Given the description of an element on the screen output the (x, y) to click on. 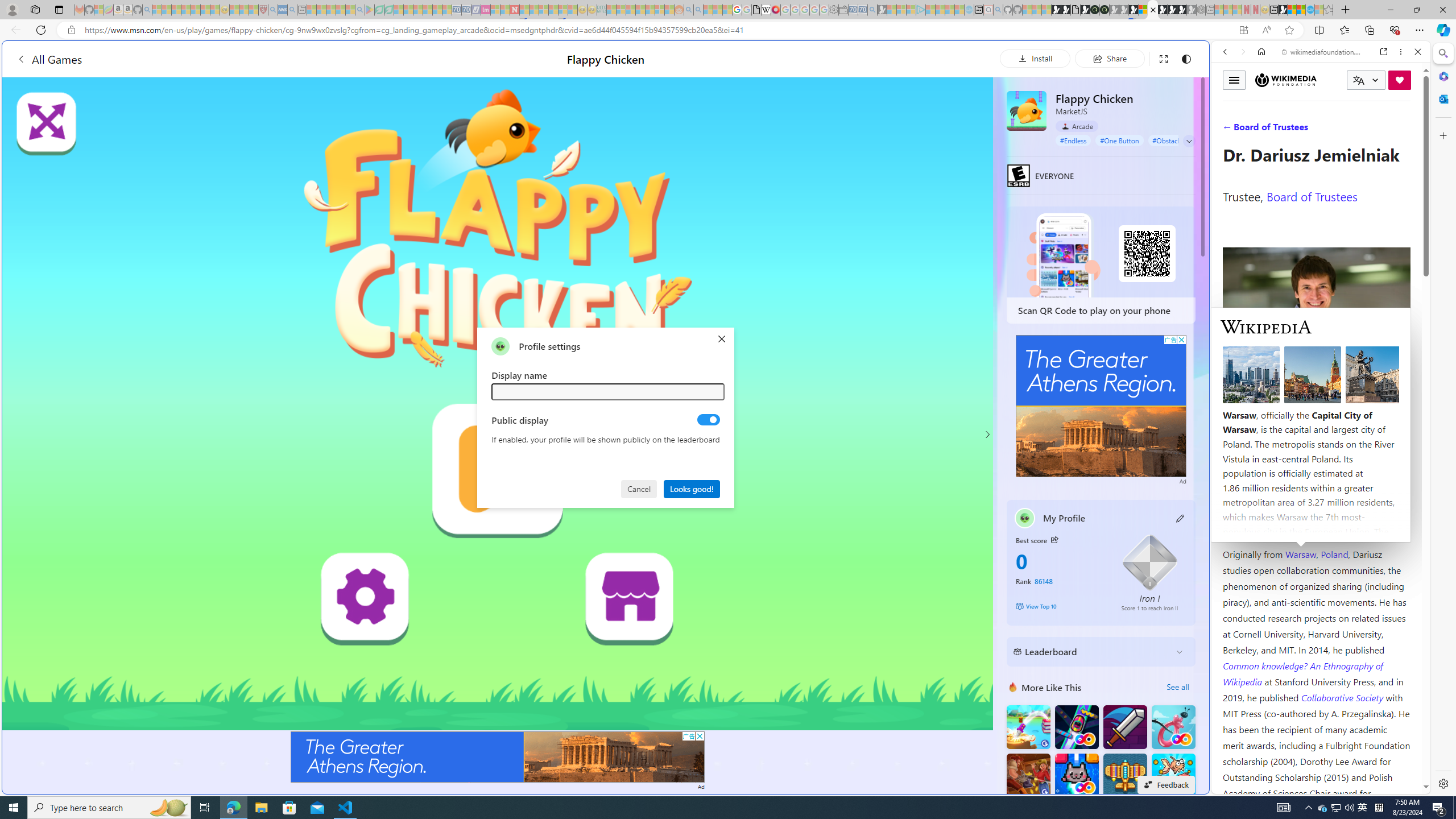
wikimediafoundation.org (1323, 51)
Actions for this site (1370, 583)
Future Focus Report 2024 (1103, 9)
All Games (49, 58)
Target page - Wikipedia (766, 9)
World - MSN (1291, 9)
Class: button edit-icon (1180, 517)
